Given the description of an element on the screen output the (x, y) to click on. 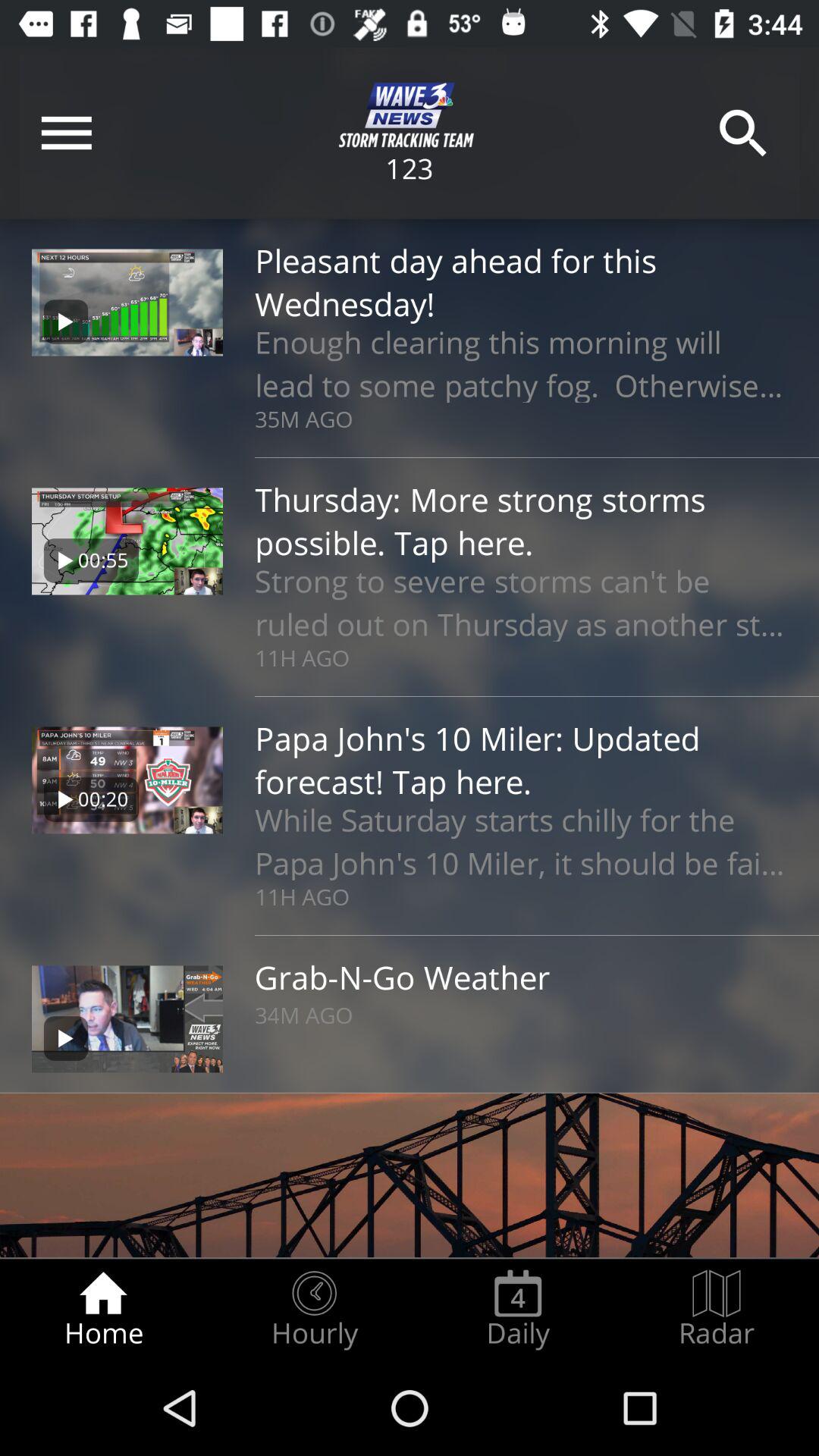
turn on icon next to the daily radio button (716, 1309)
